Given the description of an element on the screen output the (x, y) to click on. 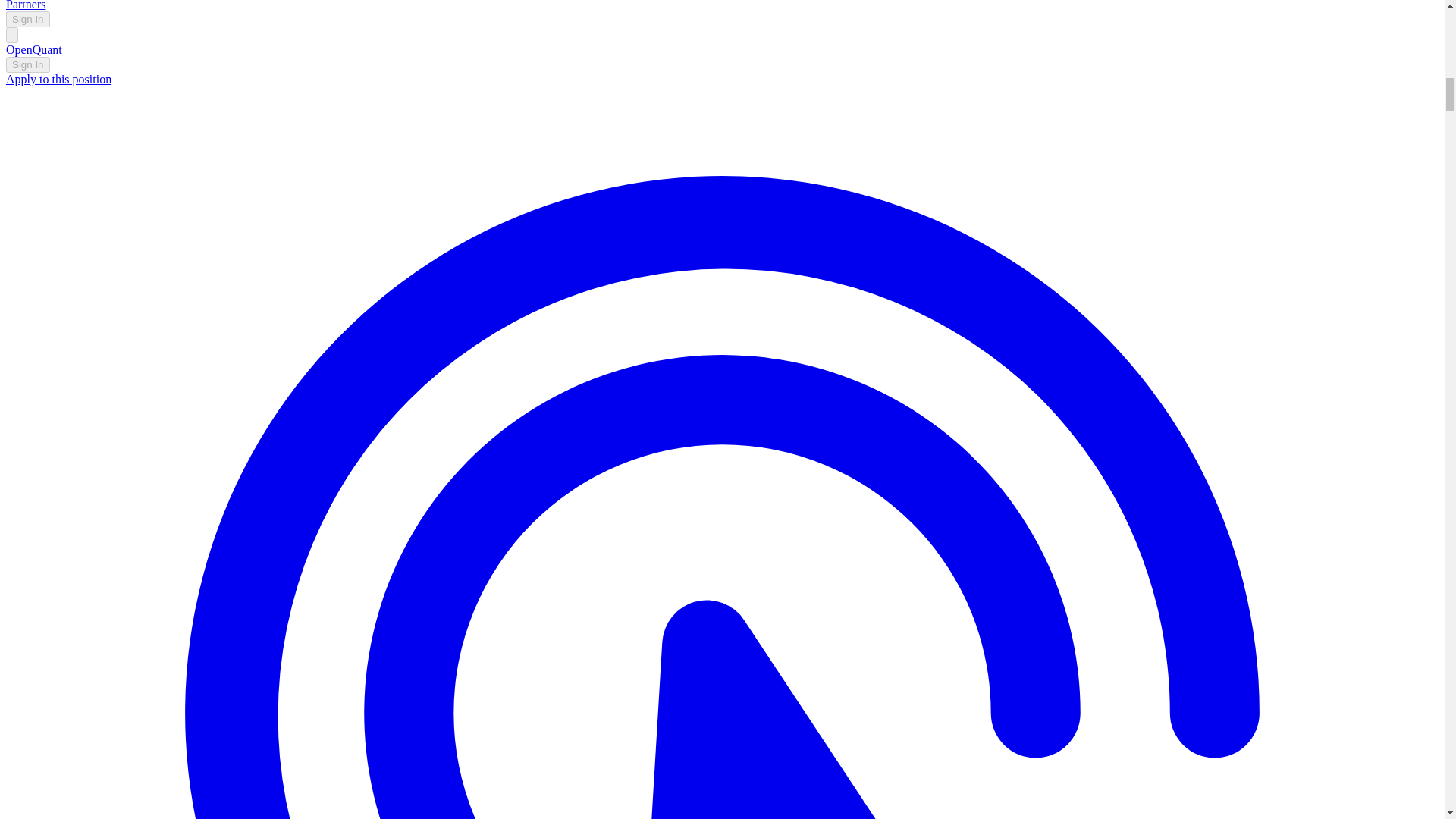
Sign In (27, 19)
Partners (25, 5)
Sign In (27, 64)
